Given the description of an element on the screen output the (x, y) to click on. 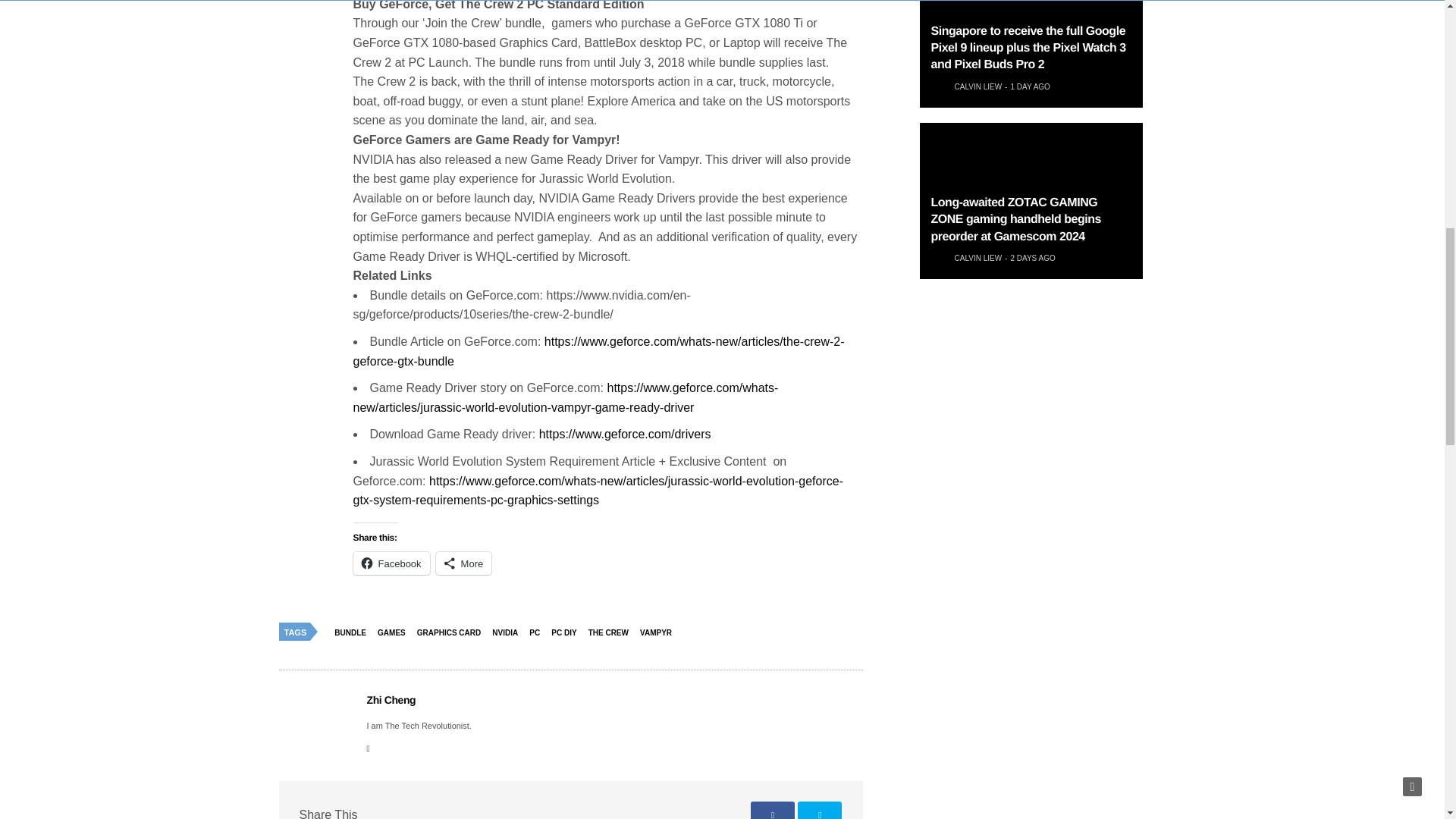
More (463, 563)
Facebook (391, 563)
GRAPHICS CARD (452, 632)
BUNDLE (353, 632)
NVIDIA (508, 632)
GAMES (395, 632)
Click to share on Facebook (391, 563)
